Given the description of an element on the screen output the (x, y) to click on. 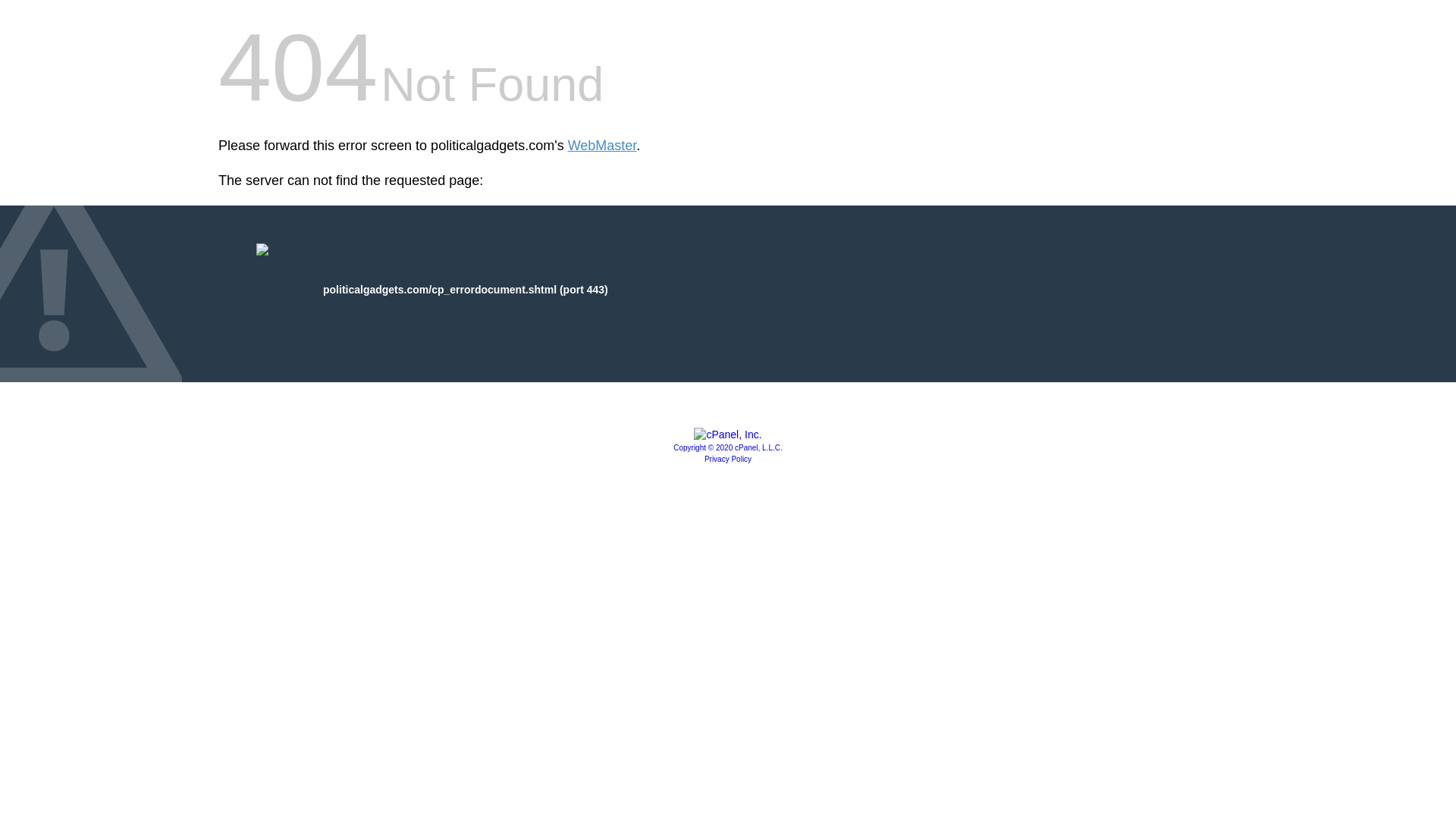
cPanel, Inc. (727, 447)
WebMaster (602, 145)
cPanel, Inc. (727, 434)
Privacy Policy (727, 459)
